Given the description of an element on the screen output the (x, y) to click on. 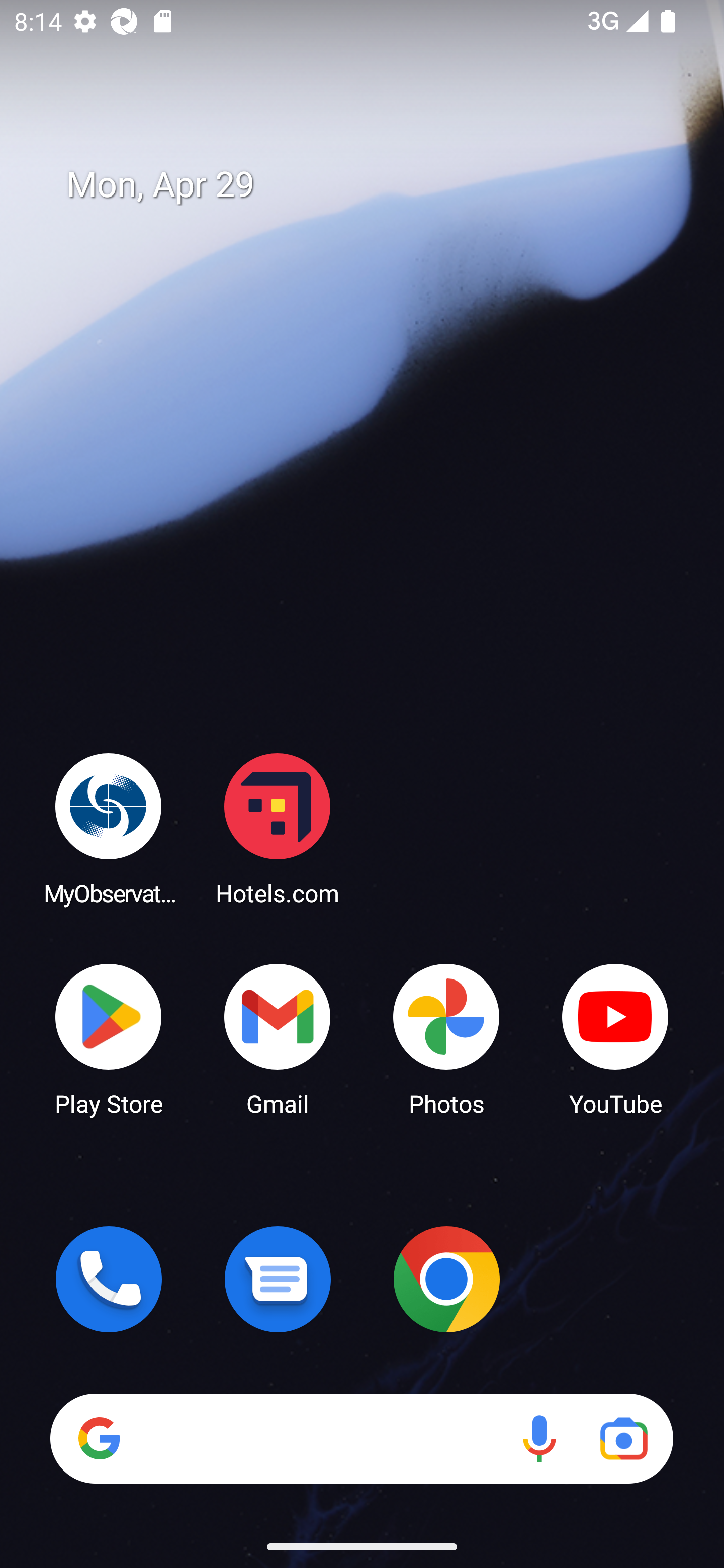
Mon, Apr 29 (375, 184)
MyObservatory (108, 828)
Hotels.com (277, 828)
Play Store (108, 1038)
Gmail (277, 1038)
Photos (445, 1038)
YouTube (615, 1038)
Phone (108, 1279)
Messages (277, 1279)
Chrome (446, 1279)
Search Voice search Google Lens (361, 1438)
Voice search (539, 1438)
Google Lens (623, 1438)
